Given the description of an element on the screen output the (x, y) to click on. 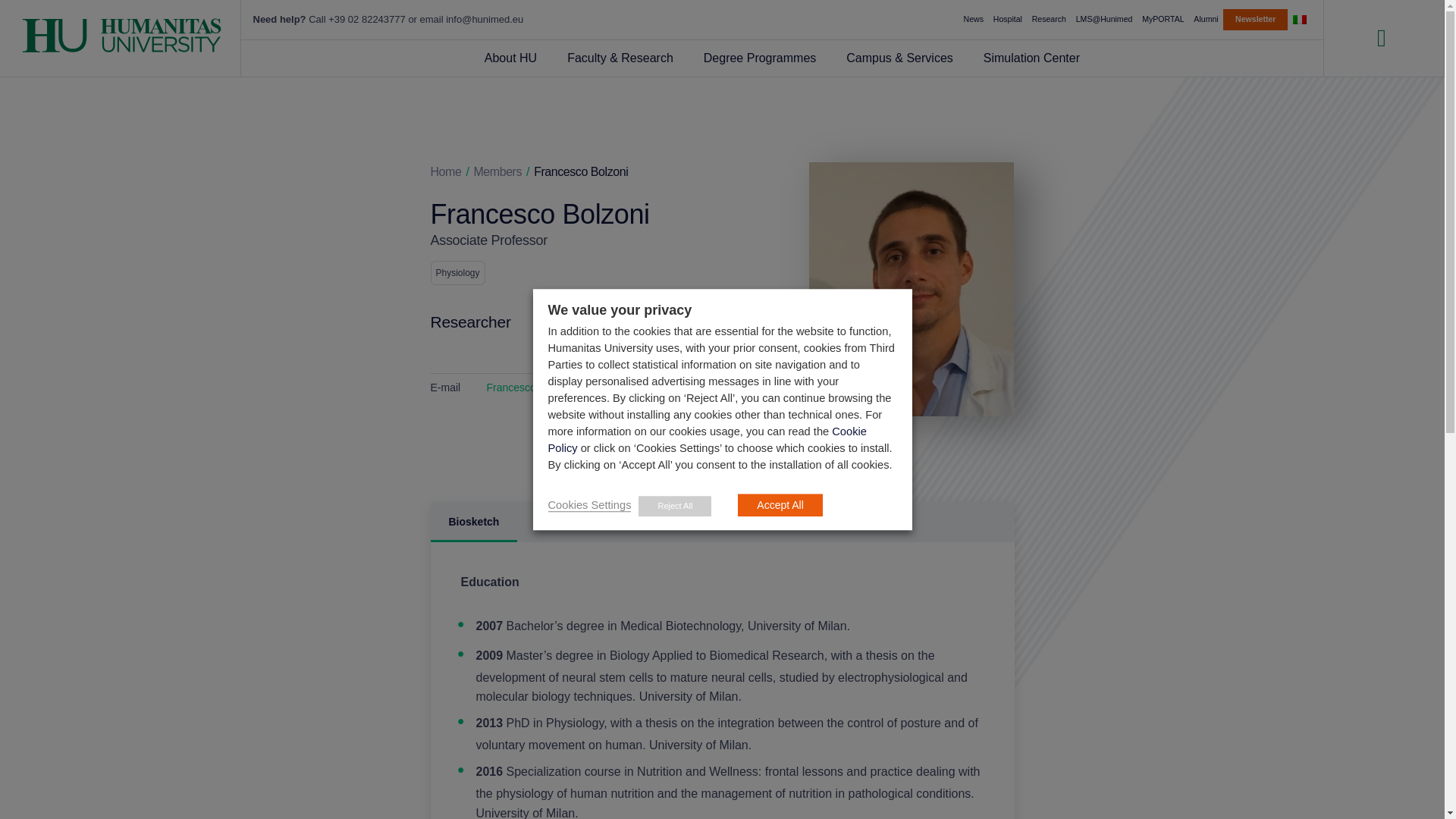
About HU (509, 58)
Degree Programmes (759, 58)
MyPORTAL (1163, 19)
News (973, 19)
Hospital (1007, 19)
Newsletter (1255, 19)
Research (1048, 19)
Alumni (1206, 19)
